Given the description of an element on the screen output the (x, y) to click on. 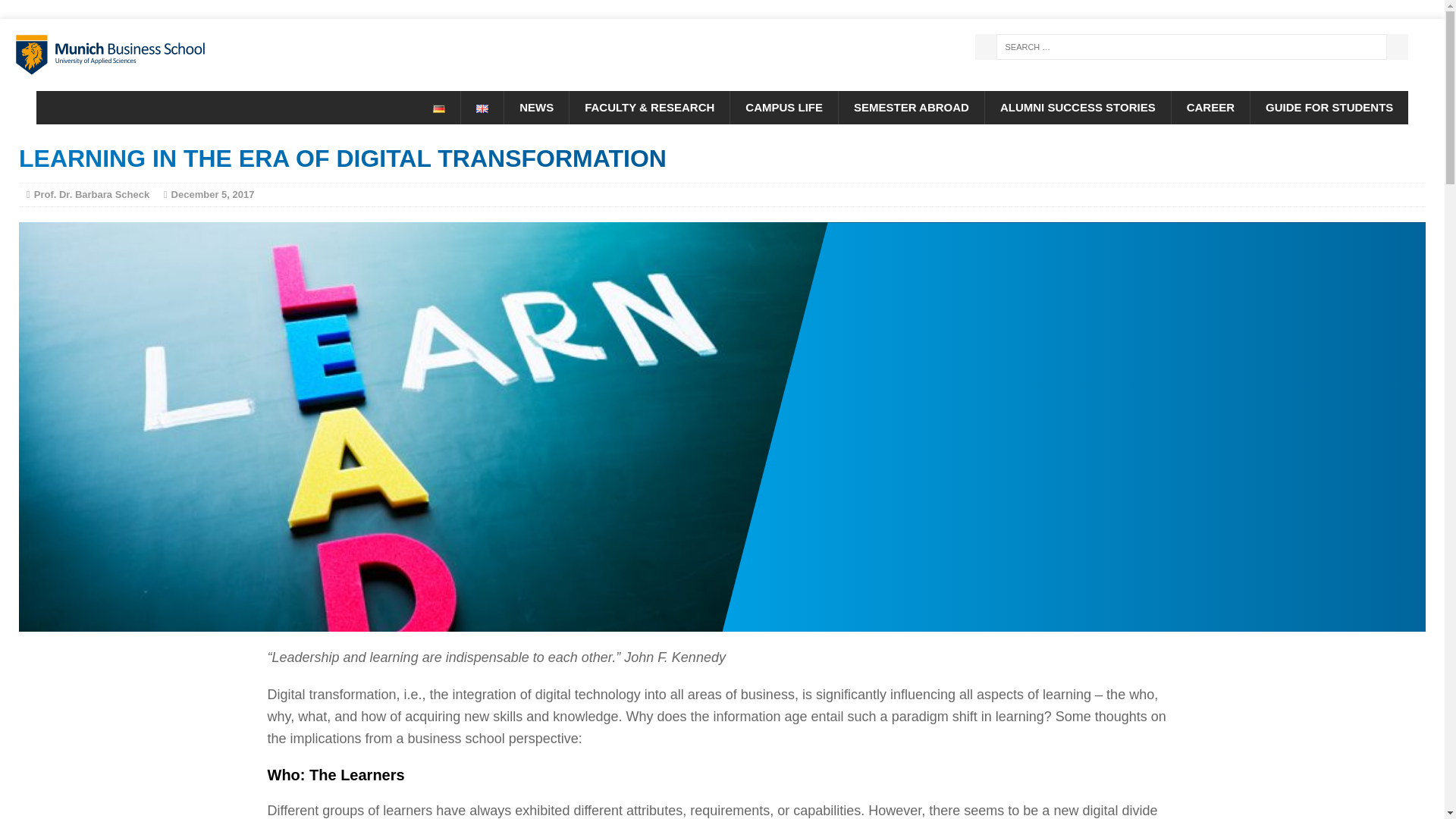
GUIDE FOR STUDENTS (1328, 107)
December 5, 2017 (212, 194)
Munich Business School Homepage (228, 54)
ALUMNI SUCCESS STORIES (1077, 107)
Prof. Dr. Barbara Scheck (91, 194)
SEMESTER ABROAD (911, 107)
NEWS (536, 107)
CAREER (1209, 107)
Posts by Prof. Dr. Barbara Scheck (91, 194)
